Given the description of an element on the screen output the (x, y) to click on. 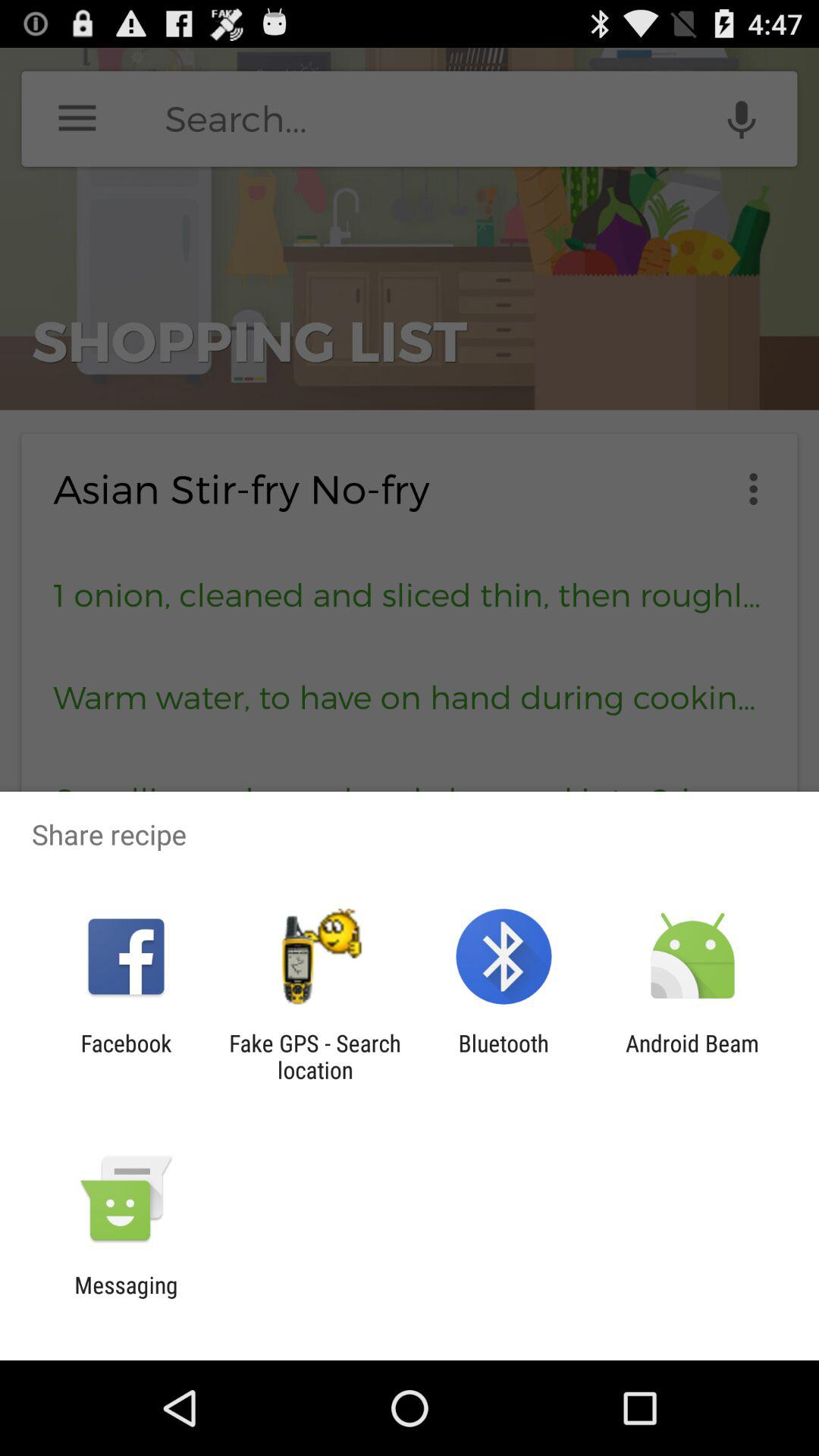
turn off fake gps search item (314, 1056)
